Given the description of an element on the screen output the (x, y) to click on. 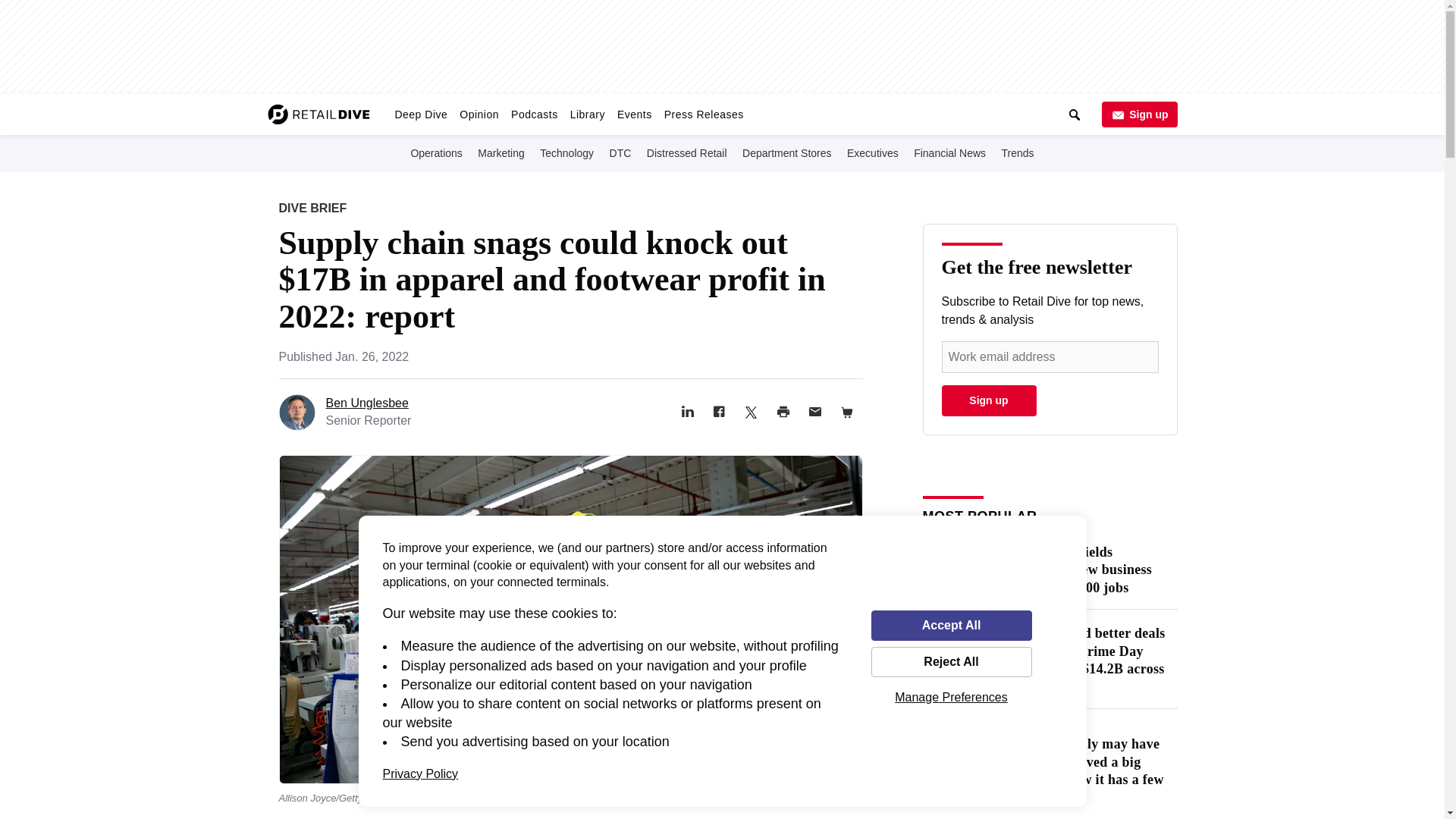
Reject All (950, 662)
Podcasts (534, 114)
Privacy Policy (419, 773)
DTC (620, 152)
Opinion (478, 114)
Events (634, 114)
Executives (872, 152)
Marketing (500, 152)
Technology (566, 152)
Operations (435, 152)
Financial News (949, 152)
Distressed Retail (686, 152)
Manage Preferences (950, 697)
Sign up (1138, 114)
Ben Unglesbee (367, 402)
